Given the description of an element on the screen output the (x, y) to click on. 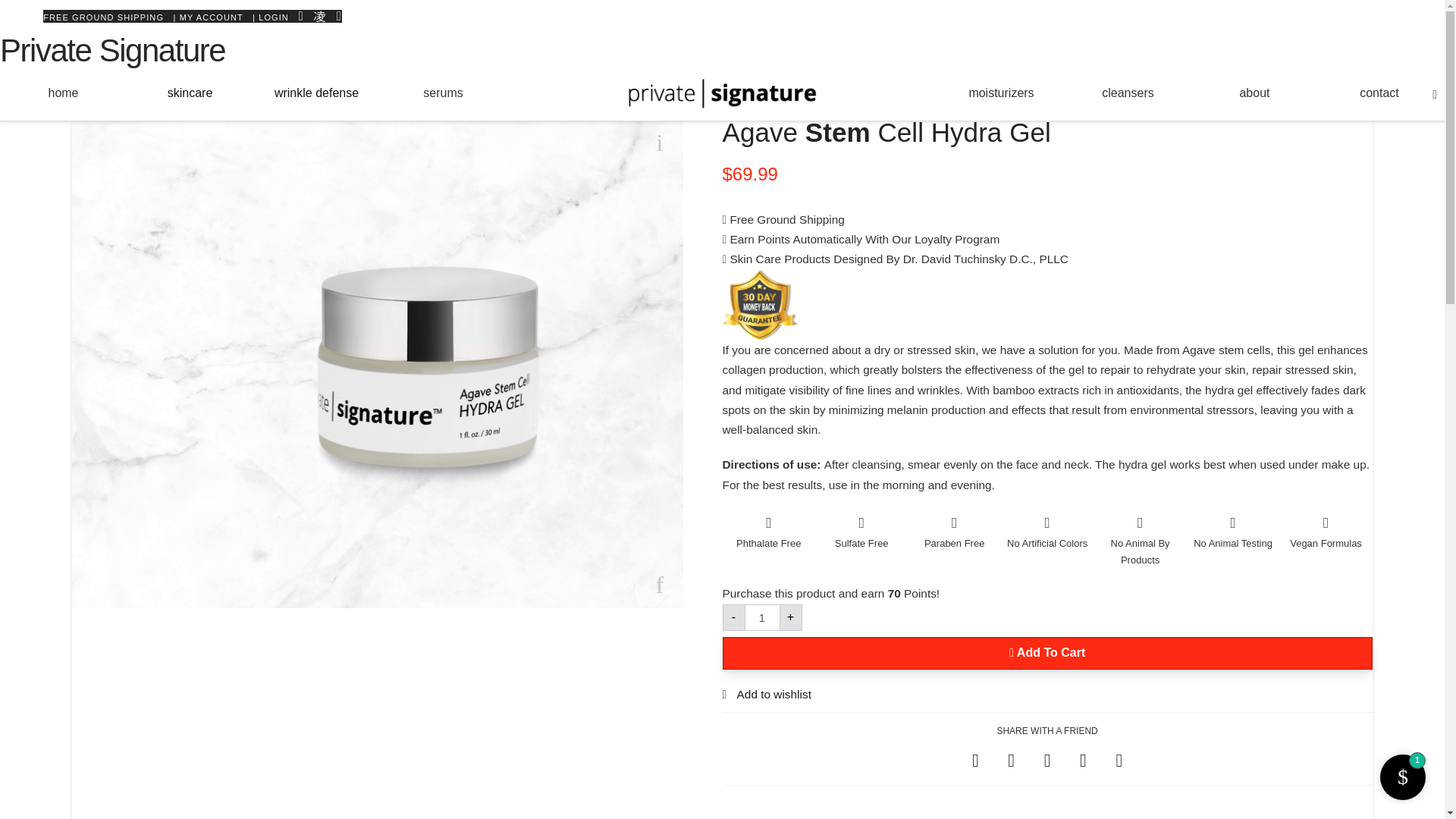
shop (102, 103)
1 (761, 617)
serums (443, 93)
Qty (761, 617)
You Are Here (195, 103)
home (63, 93)
Add to wishlist (766, 694)
agave stem cell hydra gel (195, 103)
wrinkle defense (316, 93)
about (1254, 93)
skincare (189, 93)
cleansers (1127, 93)
moisturizers (1000, 93)
Add To Cart (1046, 653)
